Given the description of an element on the screen output the (x, y) to click on. 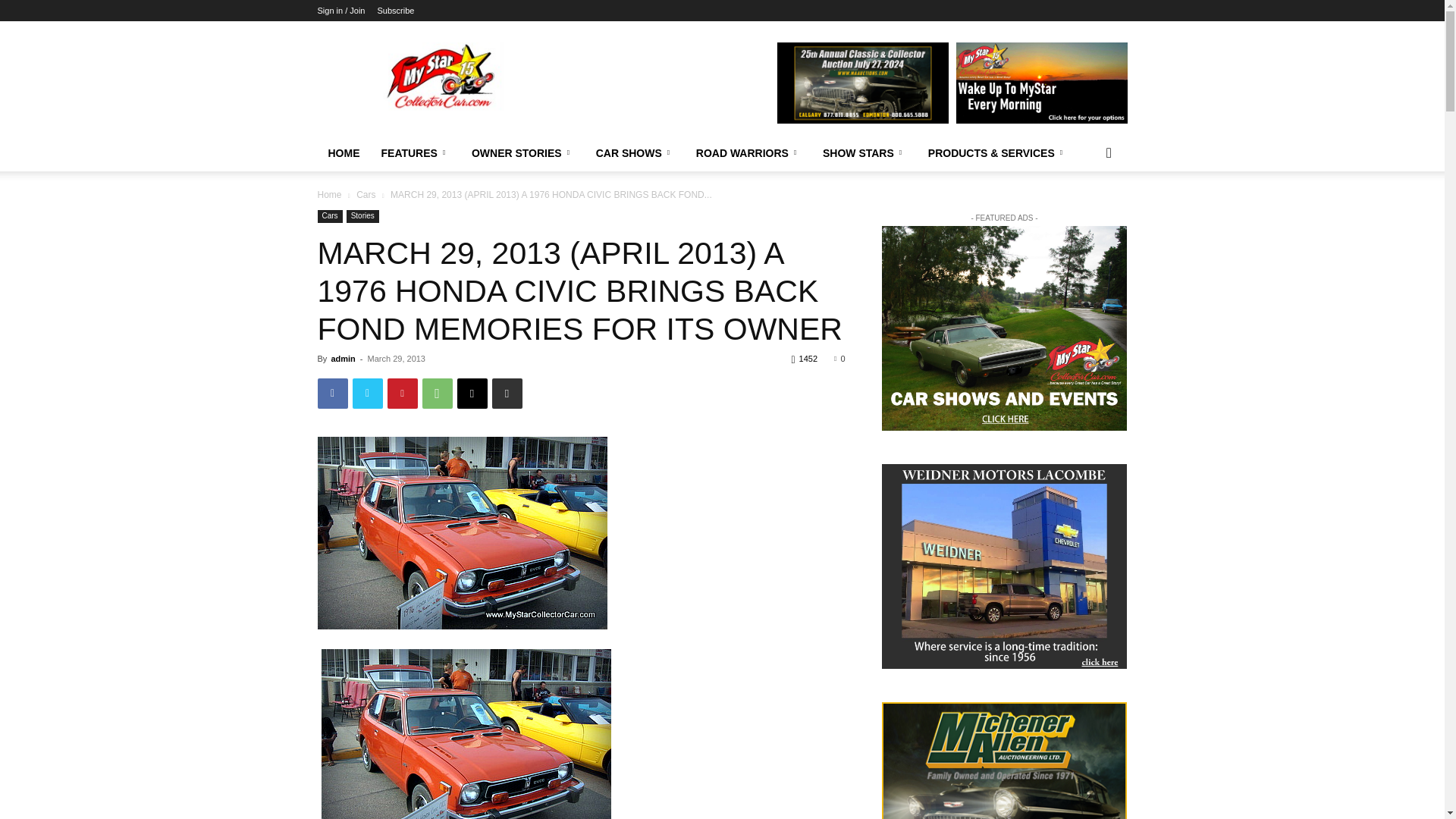
HOME (343, 153)
FEATURES (414, 153)
OWNER STORIES (523, 153)
Subscribe (395, 10)
